Given the description of an element on the screen output the (x, y) to click on. 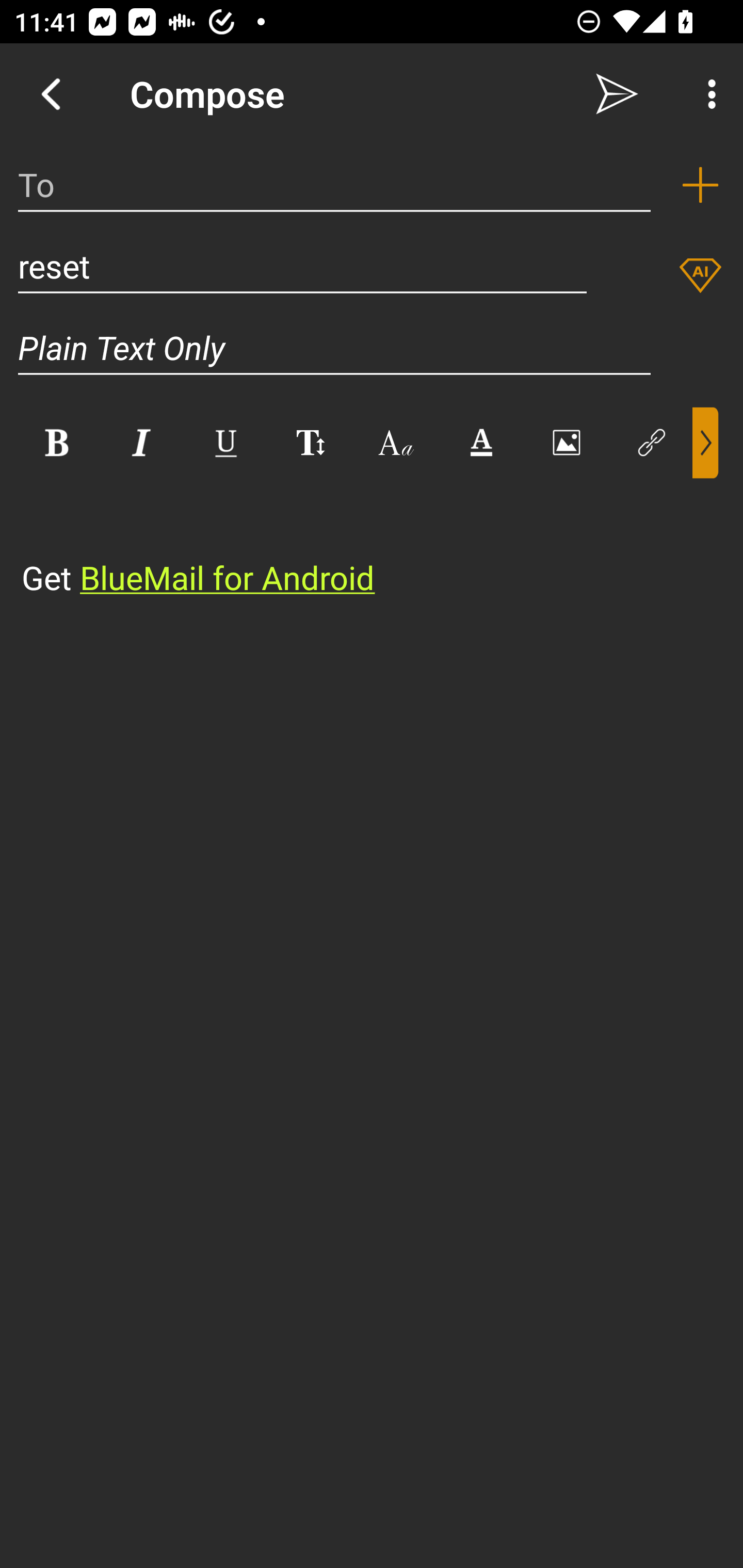
Navigate up (50, 93)
Send (616, 93)
More Options (706, 93)
To (334, 184)
Add recipient (To) (699, 184)
reset (302, 266)
Plain Text Only (371, 347)


⁣Get BlueMail for Android ​ (355, 538)
